Given the description of an element on the screen output the (x, y) to click on. 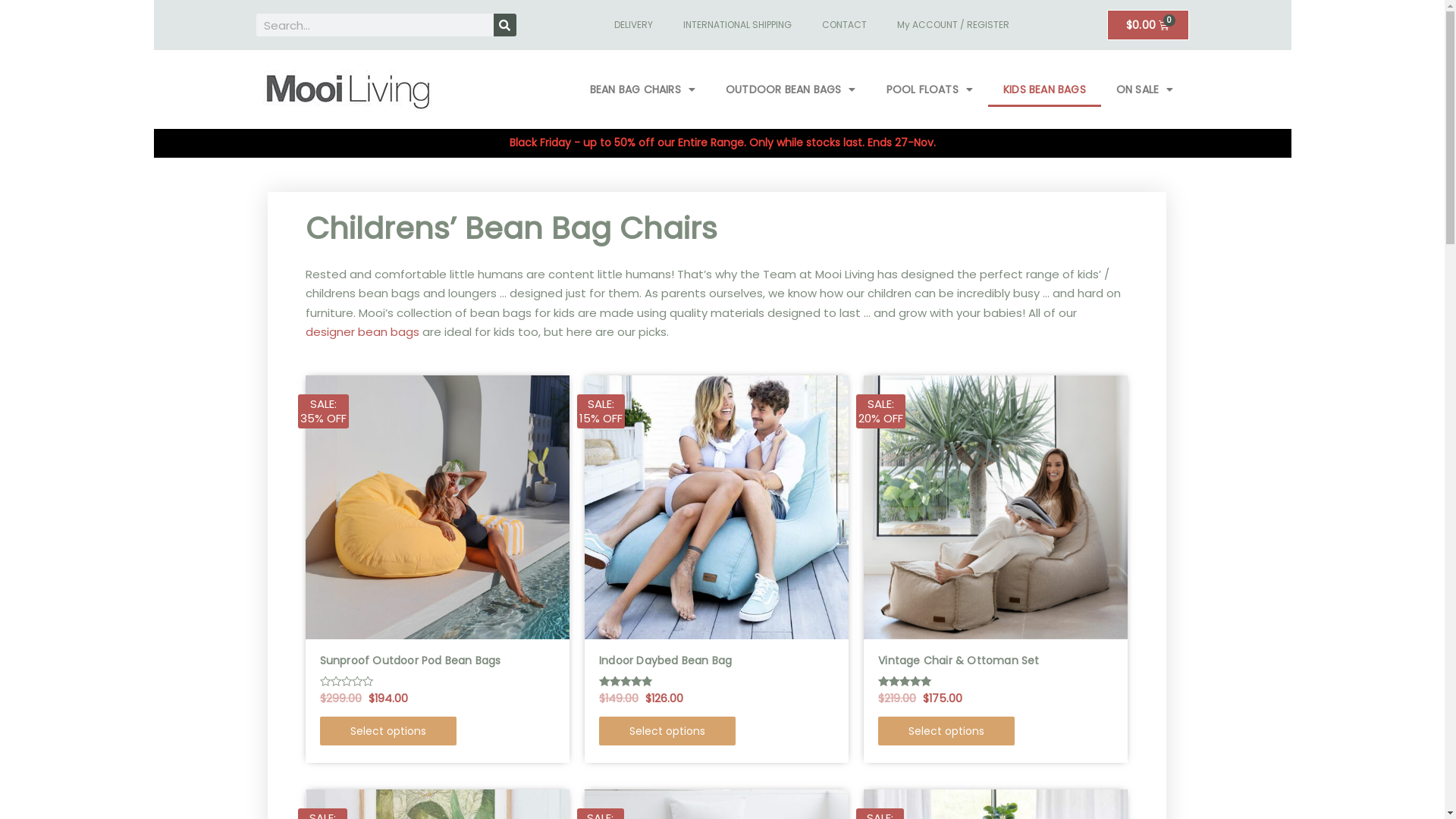
Select options Element type: text (946, 730)
INTERNATIONAL SHIPPING Element type: text (737, 24)
Vintage Chair & Ottoman Set Element type: text (995, 661)
Indoor Daybed Bean Bag Element type: text (716, 661)
designer bean bags Element type: text (361, 331)
OUTDOOR BEAN BAGS Element type: text (790, 89)
ON SALE Element type: text (1145, 89)
Select options Element type: text (667, 730)
CONTACT Element type: text (843, 24)
DELIVERY Element type: text (633, 24)
My ACCOUNT / REGISTER Element type: text (952, 24)
KIDS BEAN BAGS Element type: text (1044, 89)
Select options Element type: text (388, 730)
POOL FLOATS Element type: text (929, 89)
BEAN BAG CHAIRS Element type: text (642, 89)
$0.00
0
Cart Element type: text (1147, 24)
Search Element type: text (503, 24)
Sunproof Outdoor Pod Bean Bags Element type: text (437, 661)
